Given the description of an element on the screen output the (x, y) to click on. 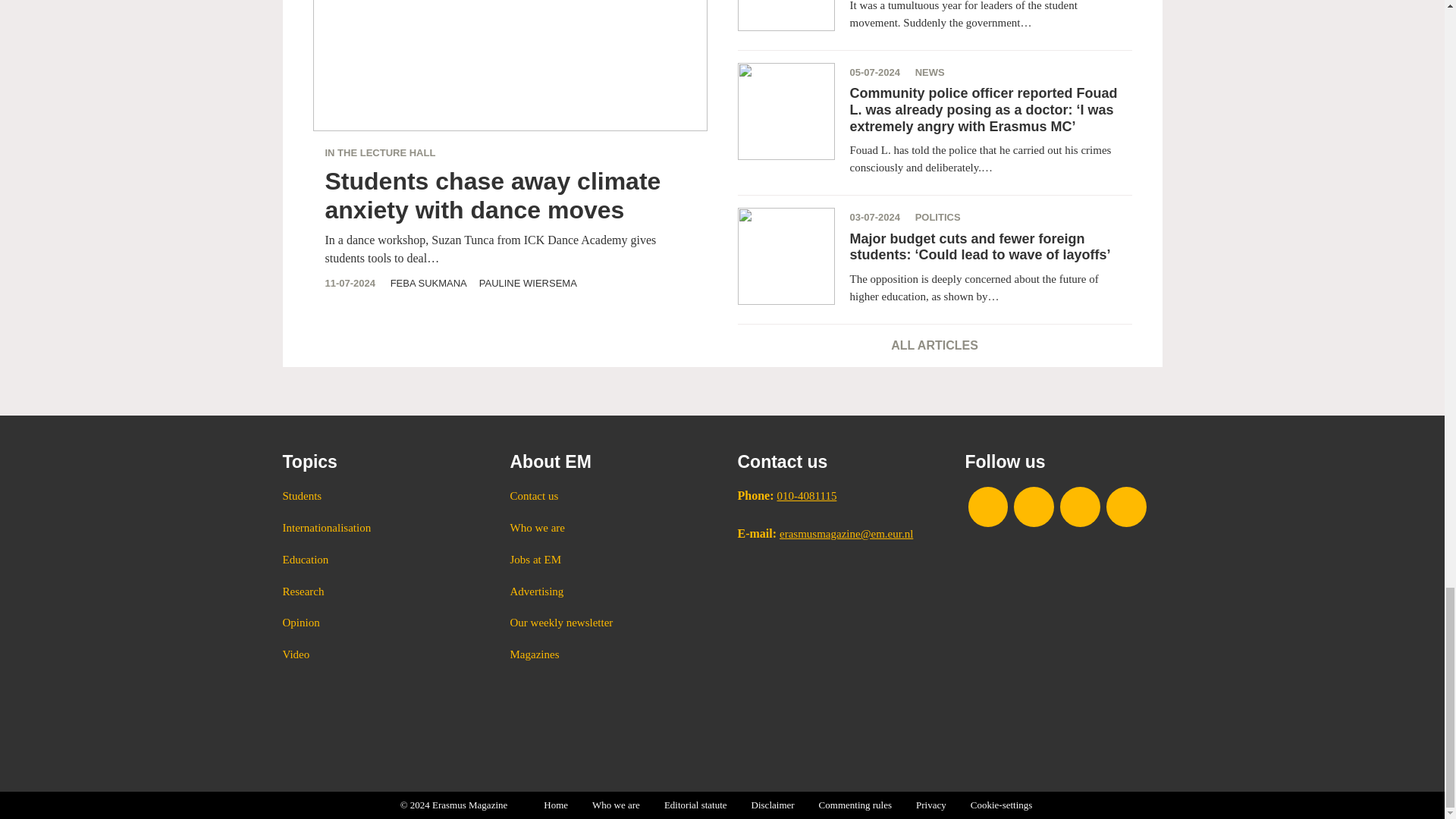
010-4081115 (805, 495)
Magazines (607, 655)
Advertising (607, 592)
Visit us on Instagram (1033, 506)
Who we are (607, 528)
Jobs at EM (607, 560)
Opinion (380, 623)
Our weekly newsletter (607, 623)
Follow us on Twitter (1079, 506)
Research (380, 592)
Video (380, 655)
Visit us on Facebook (987, 506)
Internationalisation (380, 528)
Contact us (607, 496)
Students (380, 496)
